Given the description of an element on the screen output the (x, y) to click on. 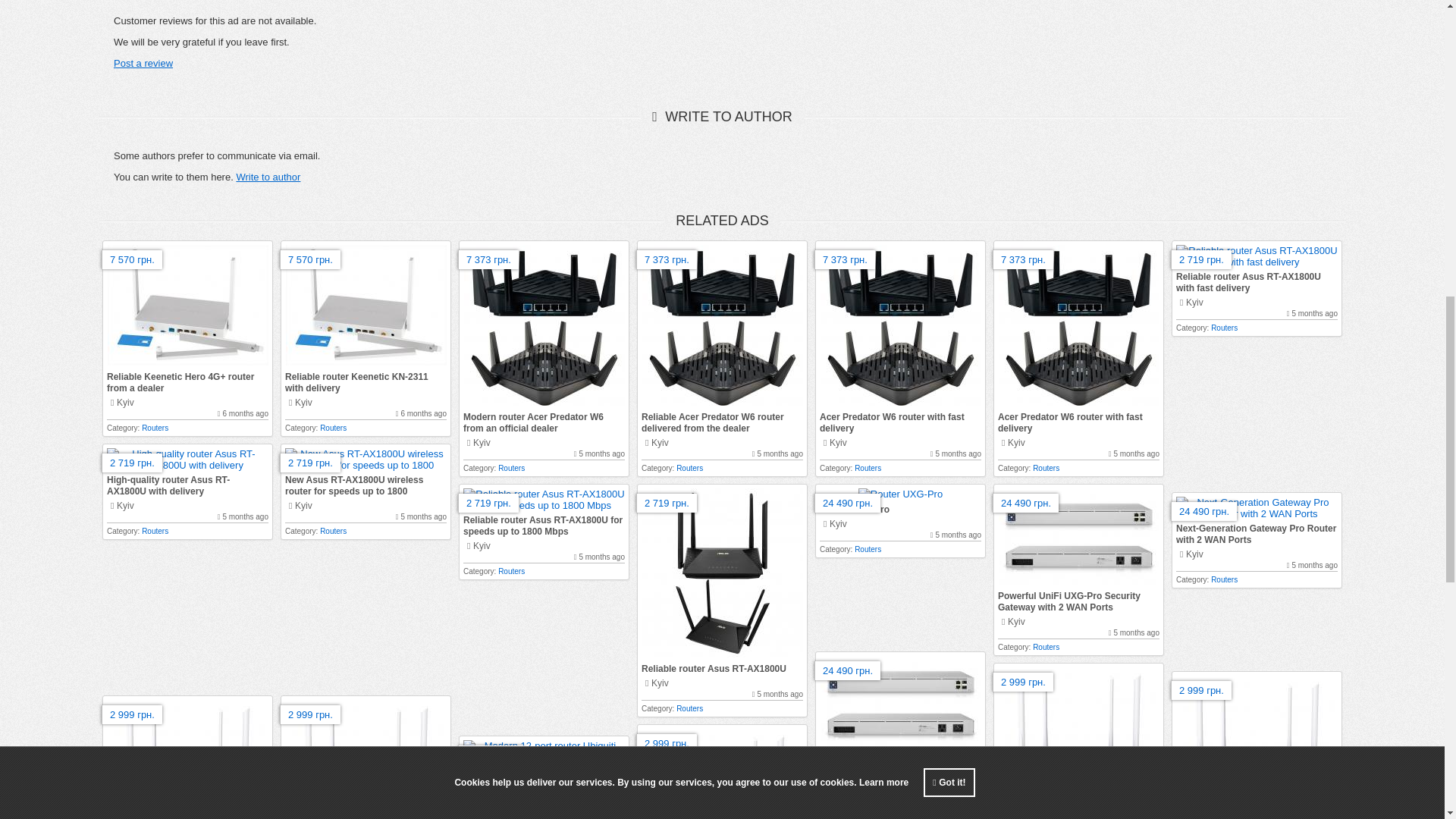
Write to author (267, 176)
Modern router Acer Predator W6 from an official dealer (533, 422)
Routers (333, 428)
Routers (510, 468)
Reliable Acer Predator W6 router delivered from the dealer (713, 422)
Post a review (143, 62)
Routers (154, 428)
Reliable router Keenetic KN-2311 with delivery (356, 382)
